Given the description of an element on the screen output the (x, y) to click on. 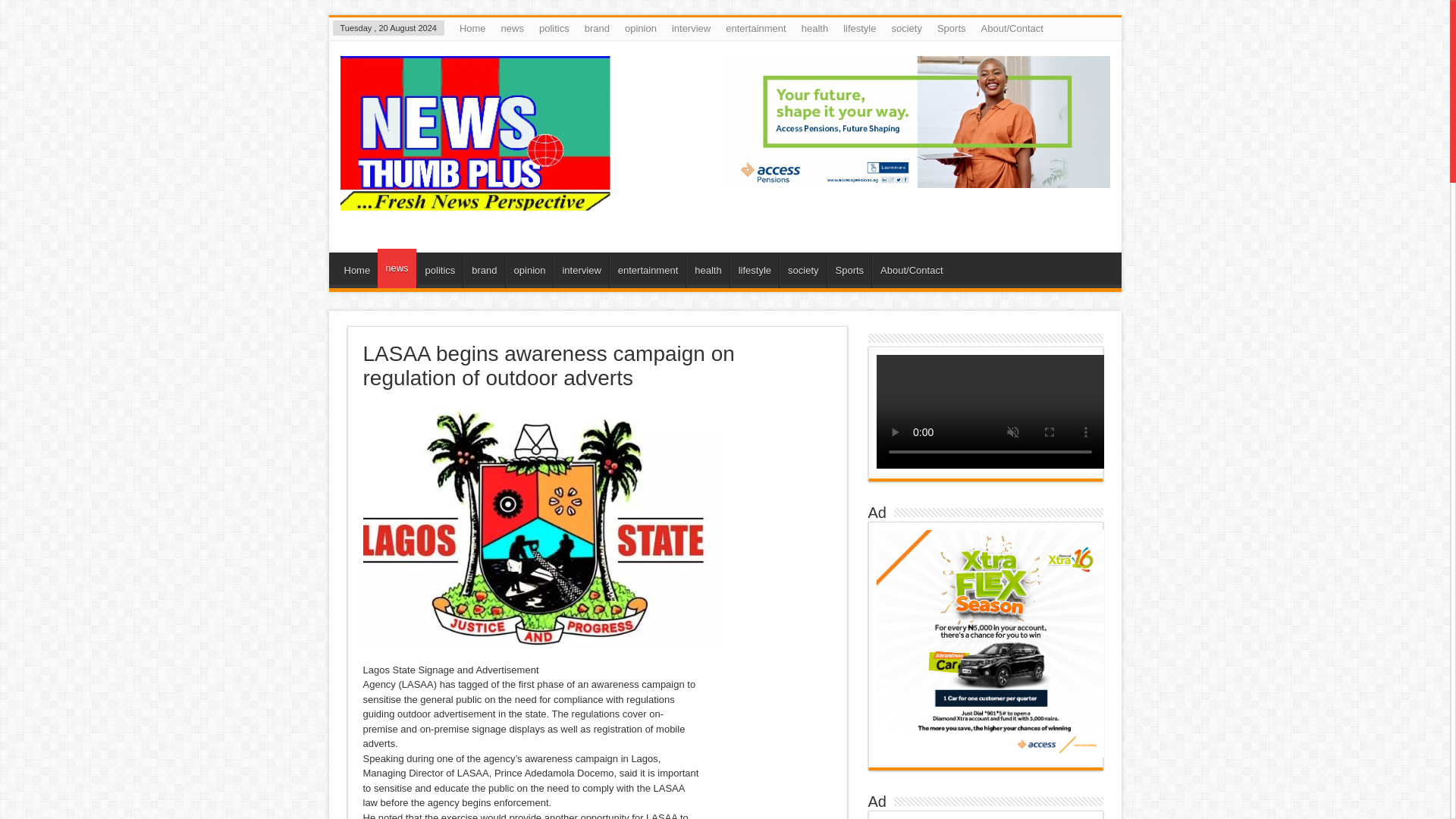
lifestyle (754, 270)
politics (553, 28)
Sports (952, 28)
opinion (640, 28)
Sports (849, 270)
society (801, 270)
news (395, 268)
interview (580, 270)
interview (690, 28)
news (512, 28)
